Given the description of an element on the screen output the (x, y) to click on. 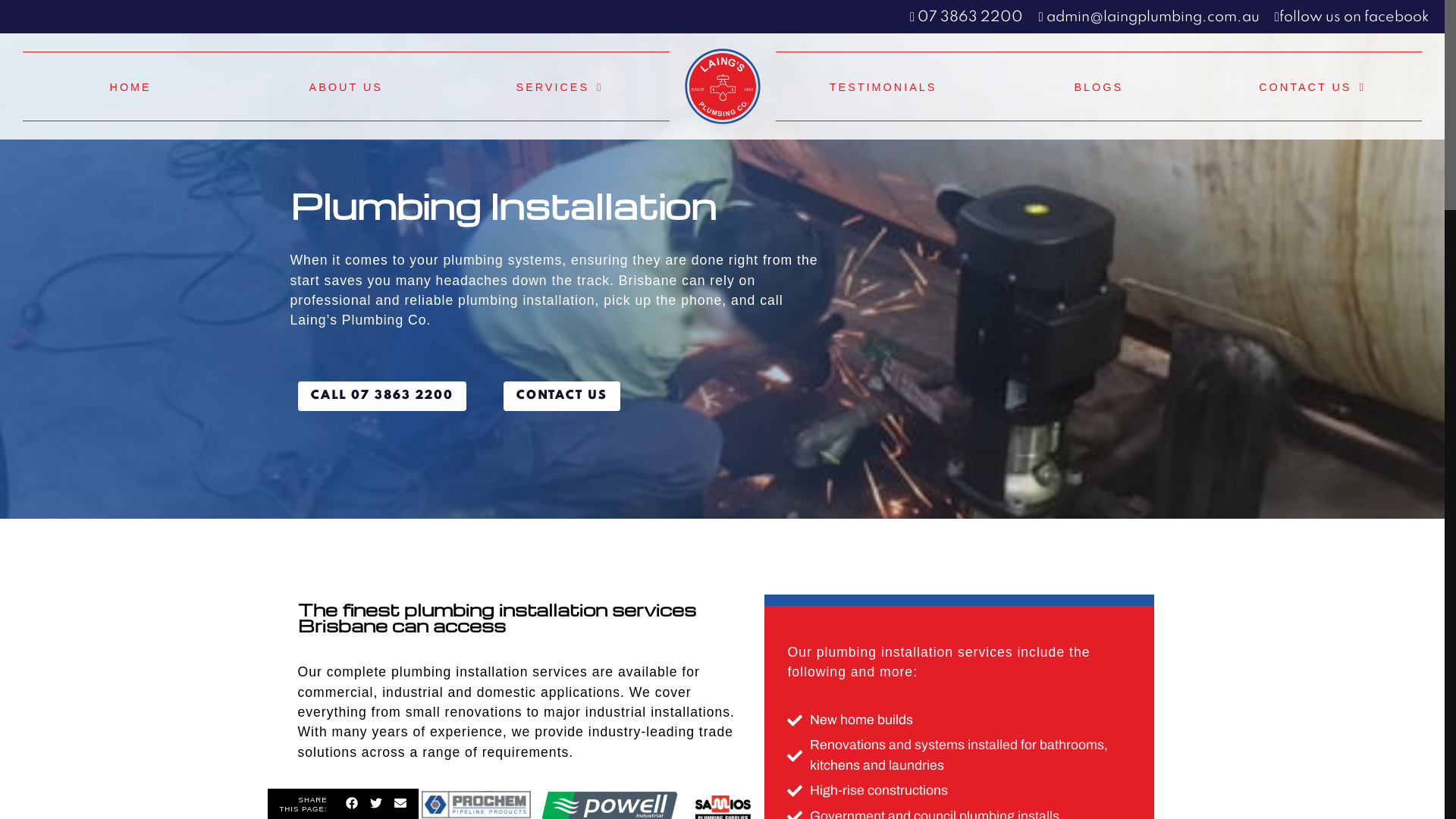
admin@laingplumbing.com.au Element type: text (1148, 16)
CALL 07 3863 2200 Element type: text (381, 395)
Share via Email Element type: hover (400, 805)
07 3863 2200 Element type: text (966, 16)
Share on Twitter Element type: hover (376, 805)
SERVICES Element type: text (559, 86)
CONTACT US Element type: text (561, 395)
Share on Facebook Element type: hover (351, 805)
TESTIMONIALS Element type: text (882, 86)
BLOGS Element type: text (1098, 86)
ABOUT US Element type: text (345, 86)
HOME Element type: text (130, 86)
CONTACT US Element type: text (1312, 86)
follow us on facebook Element type: text (1351, 16)
